Given the description of an element on the screen output the (x, y) to click on. 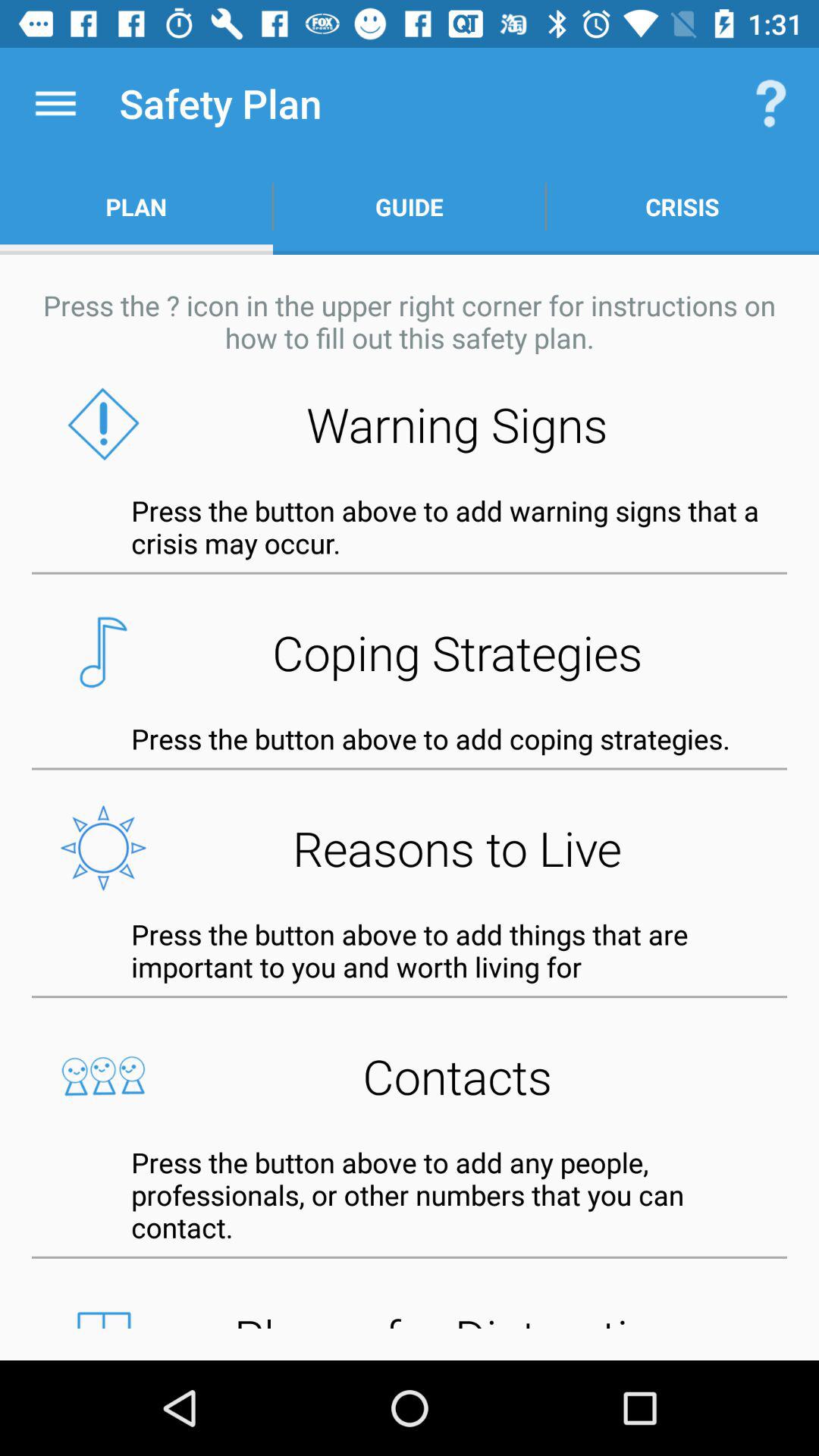
turn off the guide app (409, 206)
